Given the description of an element on the screen output the (x, y) to click on. 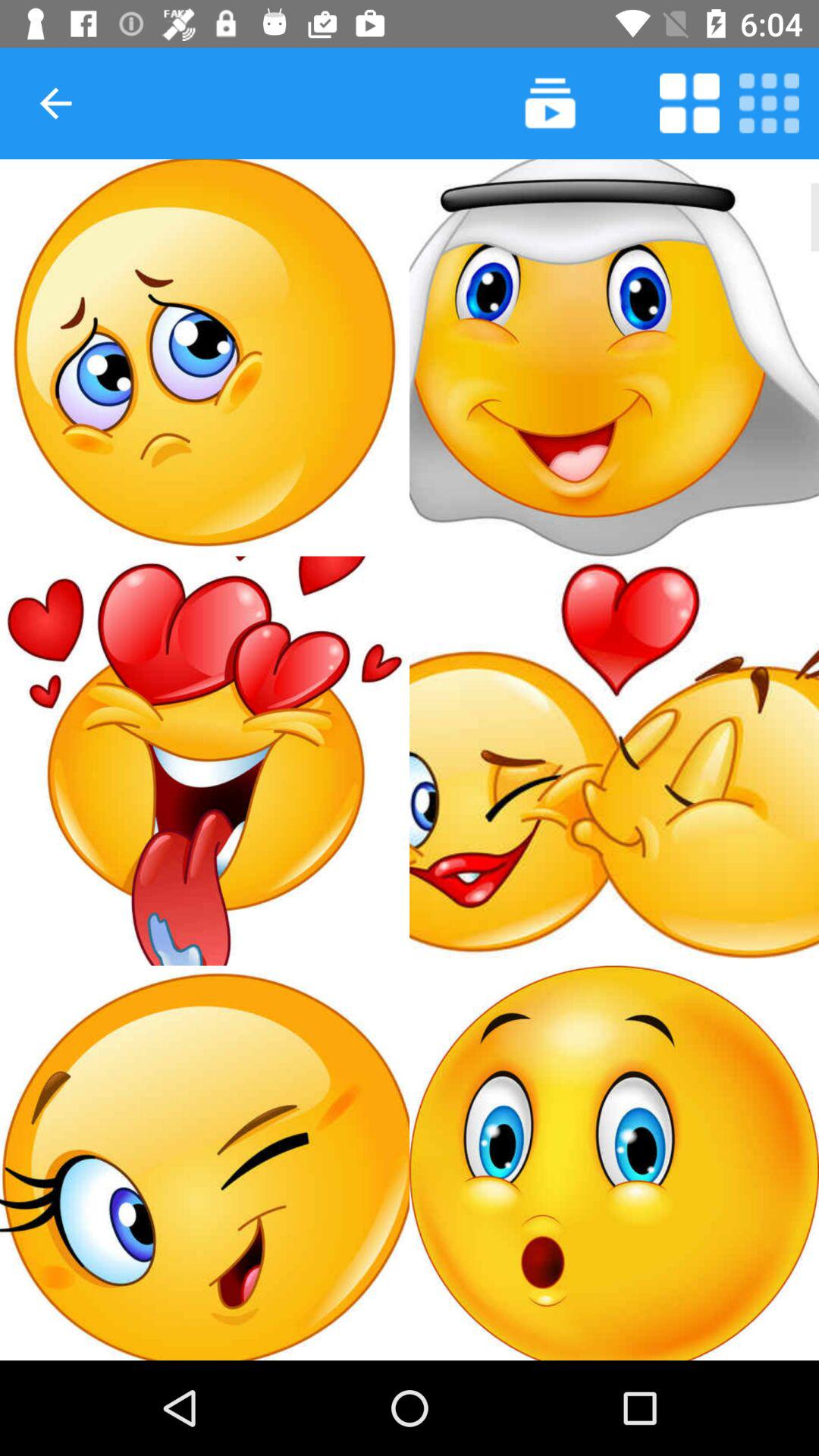
second emoji (614, 357)
